Given the description of an element on the screen output the (x, y) to click on. 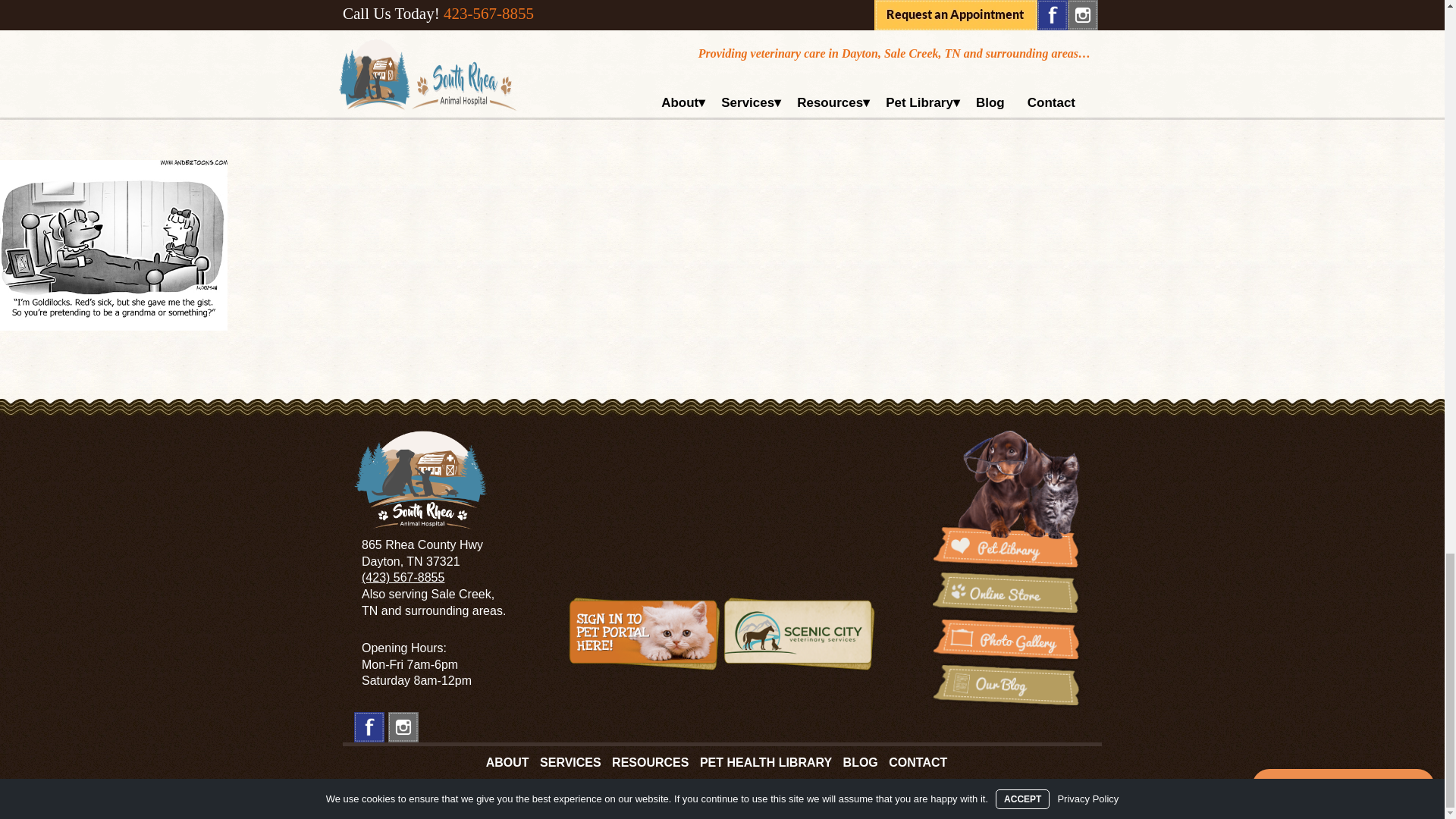
Photo Gallery (1005, 639)
Instagram (403, 726)
Online Store (1005, 593)
South Rhea Animal Hospital Home (420, 479)
Pet Library (1005, 499)
Facebook (368, 726)
Scenic City Veterinary Services (799, 633)
Sign in to Pet Portal here! (644, 633)
Our Blog (1005, 684)
